Given the description of an element on the screen output the (x, y) to click on. 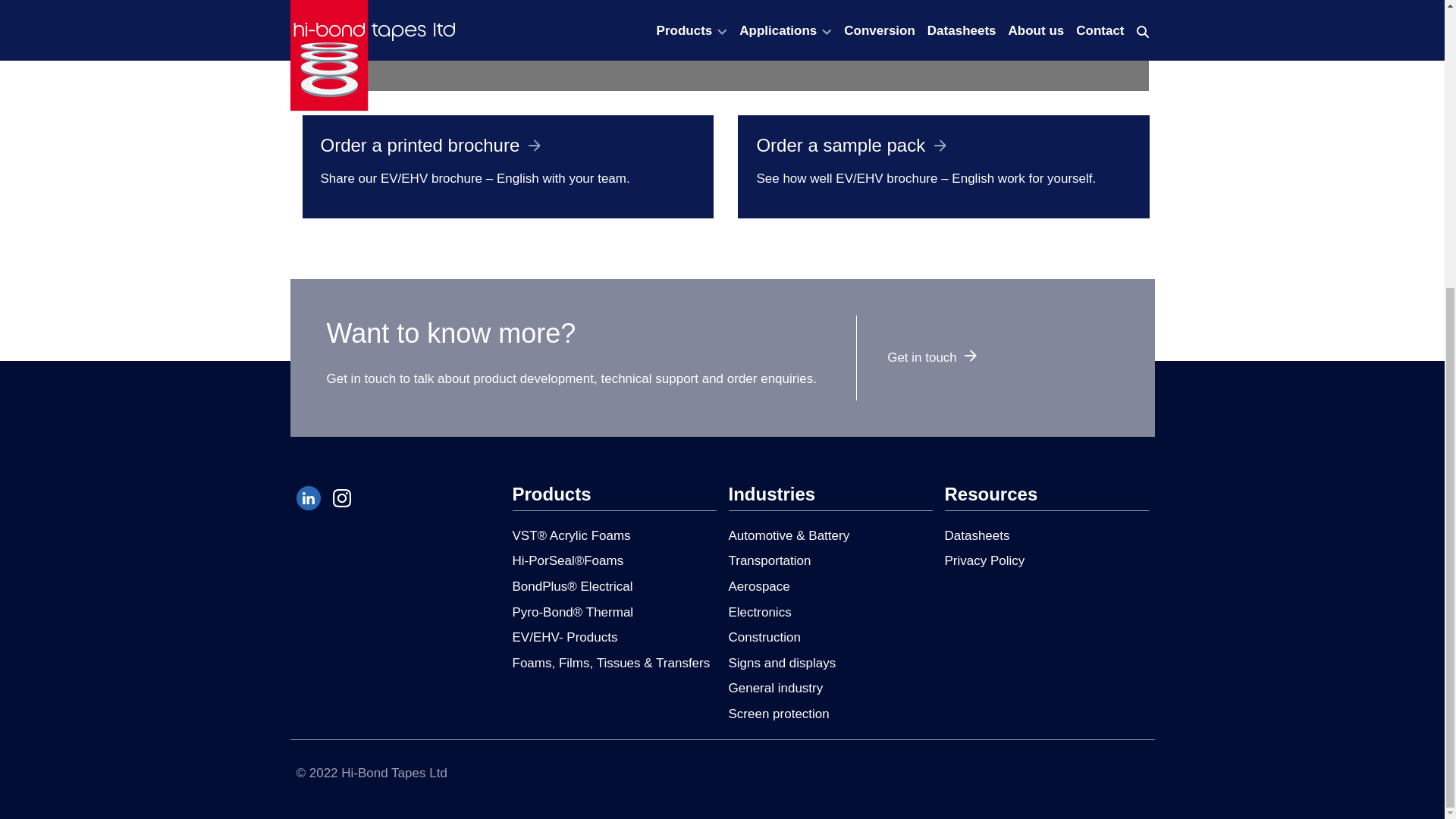
Aerospace (758, 586)
Privacy Policy (984, 560)
Construction (763, 636)
General industry (775, 687)
Transportation (769, 560)
Datasheets (977, 535)
Get in touch (931, 357)
Screen protection (778, 713)
Signs and displays (781, 663)
Electronics (759, 612)
